Given the description of an element on the screen output the (x, y) to click on. 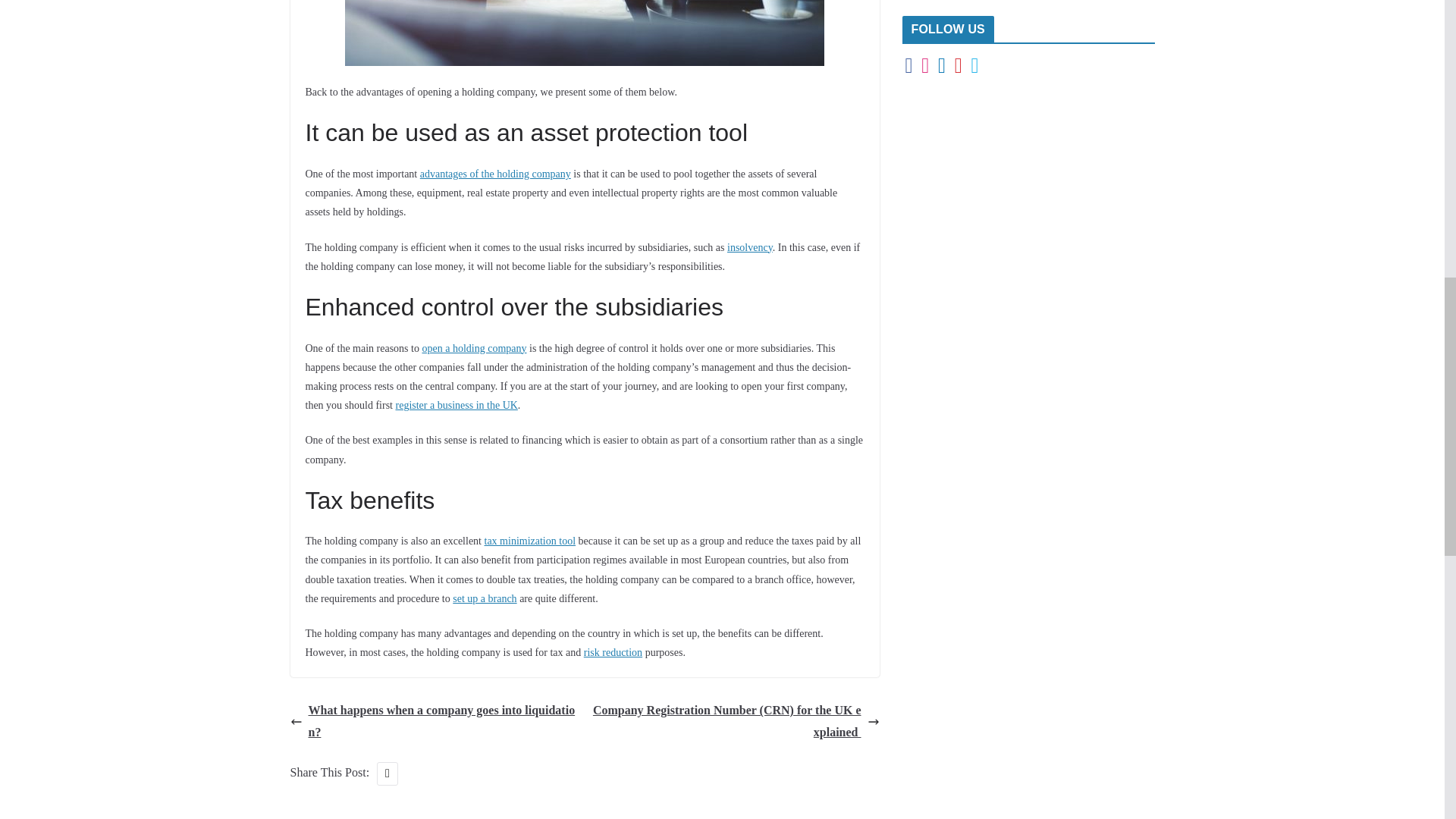
set up a branch (484, 598)
register a business in the UK (457, 405)
tax minimization tool (529, 541)
advantages of the holding company (495, 173)
insolvency (749, 247)
What happens when a company goes into liquidation? (432, 721)
open a holding company (473, 348)
risk reduction (612, 652)
